Given the description of an element on the screen output the (x, y) to click on. 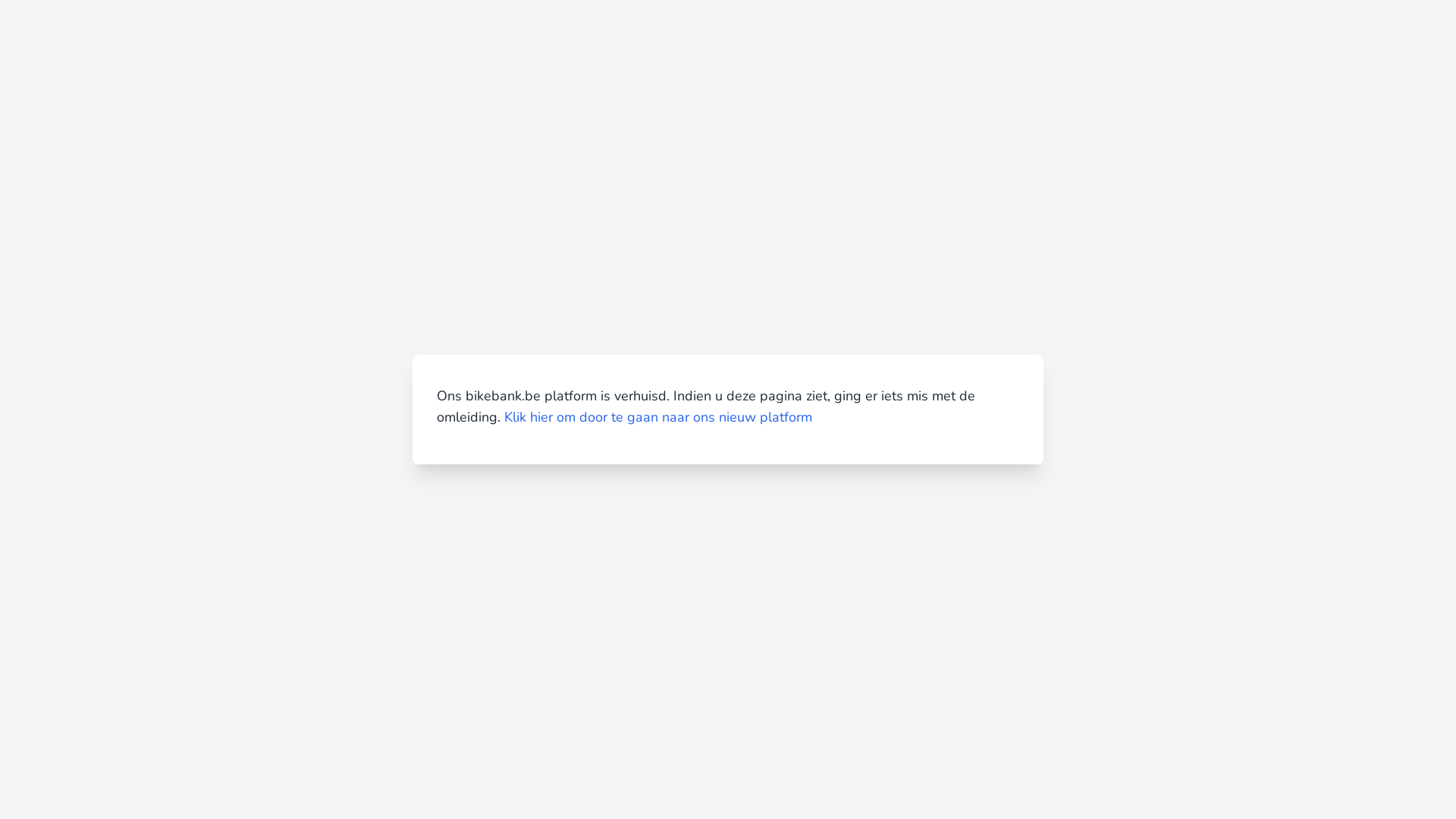
Klik hier om door te gaan naar ons nieuw platform Element type: text (658, 416)
